Given the description of an element on the screen output the (x, y) to click on. 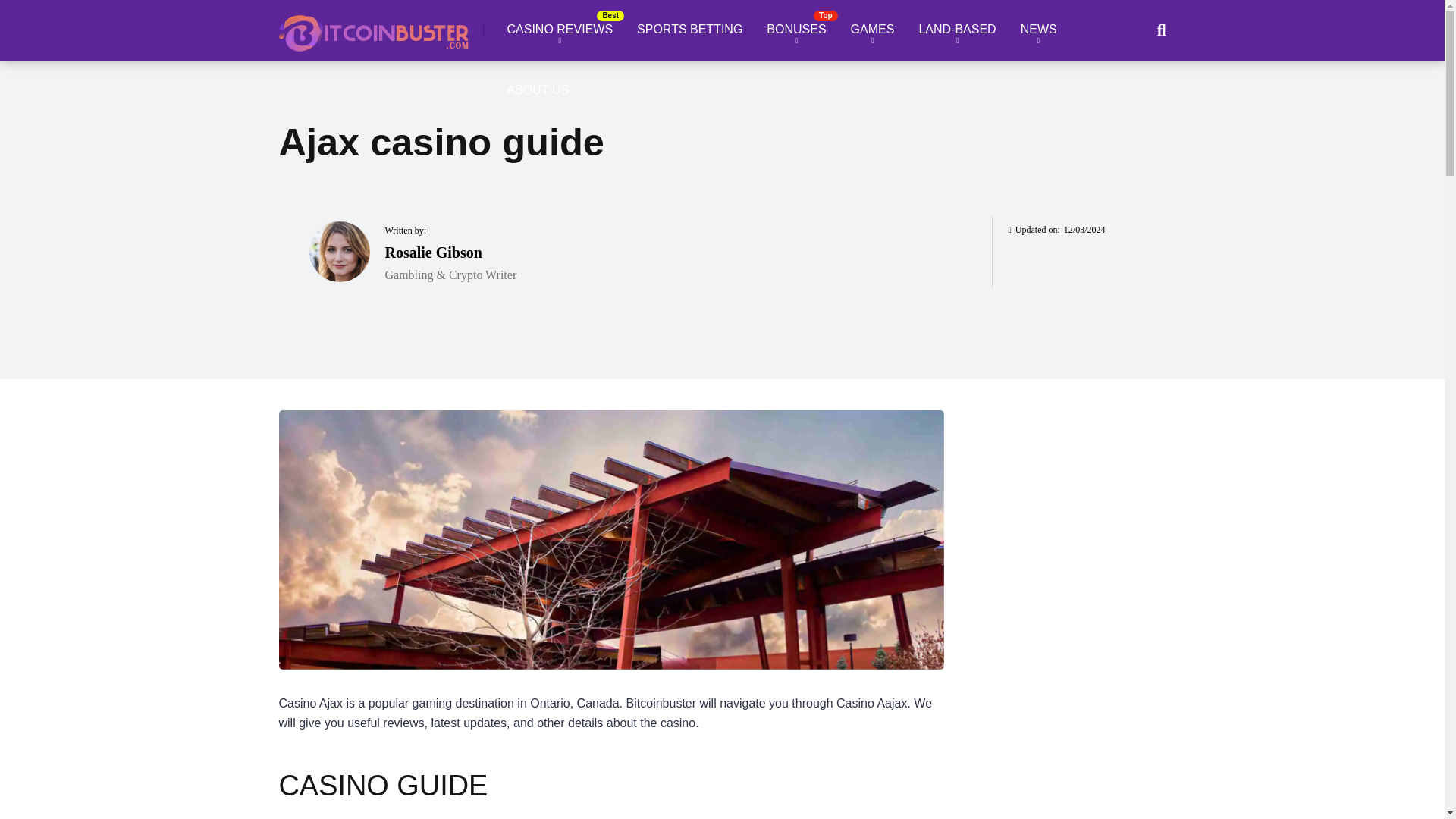
SPORTS BETTING (689, 30)
ABOUT US (537, 90)
CASINO REVIEWS (559, 30)
GAMES (872, 30)
LAND-BASED (956, 30)
NEWS (1038, 30)
BONUSES (796, 30)
BitcoinBuster.com (373, 27)
